Given the description of an element on the screen output the (x, y) to click on. 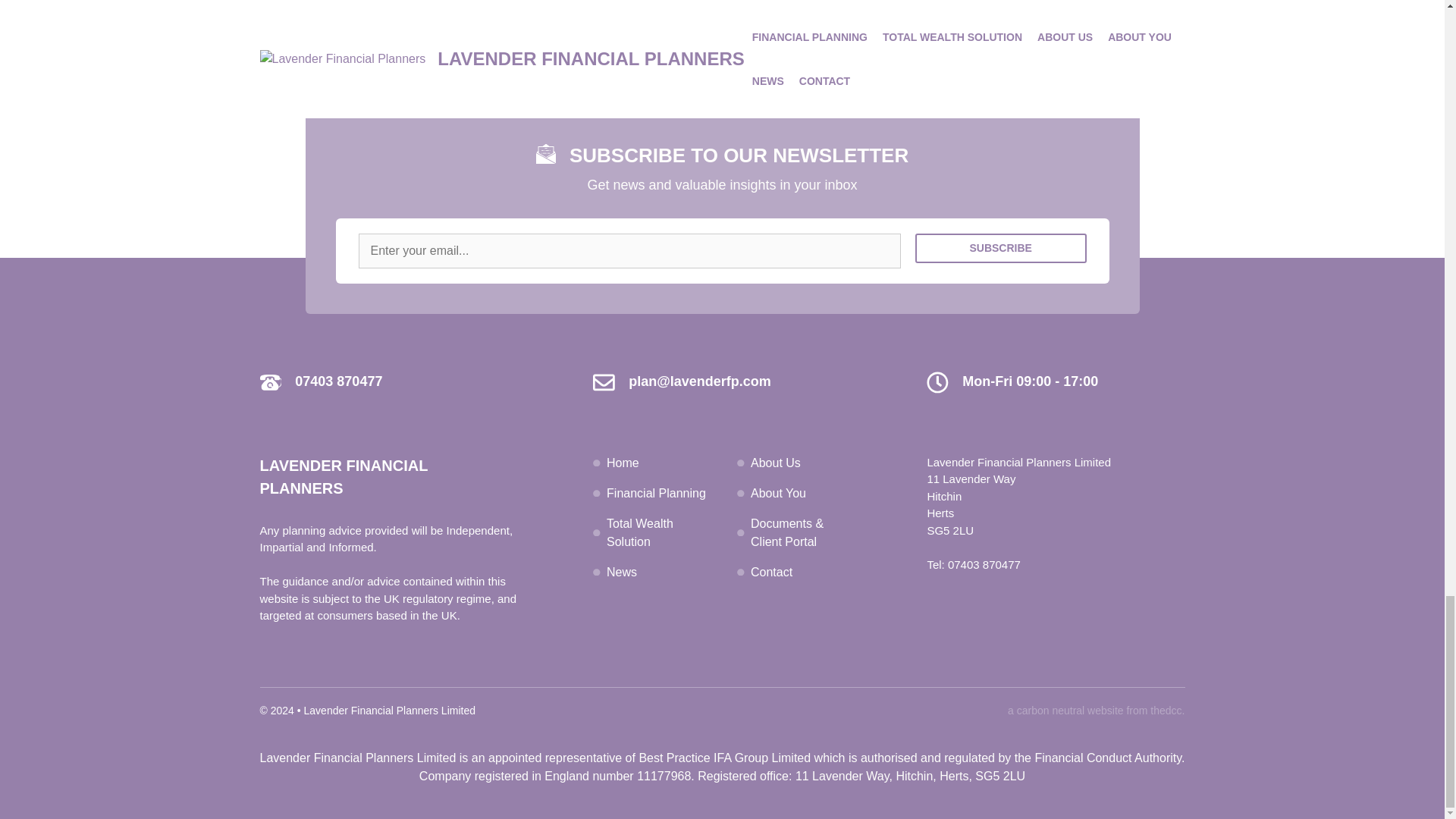
READ MORE TESTIMONIALS (722, 38)
07403 870477 (338, 381)
Subscribe (1000, 252)
07403 870477 (983, 563)
a carbon neutral website from thedcc. (1096, 710)
Financial Planning (656, 492)
About You (778, 492)
About Us (775, 461)
Home (623, 461)
Total Wealth Solution (639, 531)
